Given the description of an element on the screen output the (x, y) to click on. 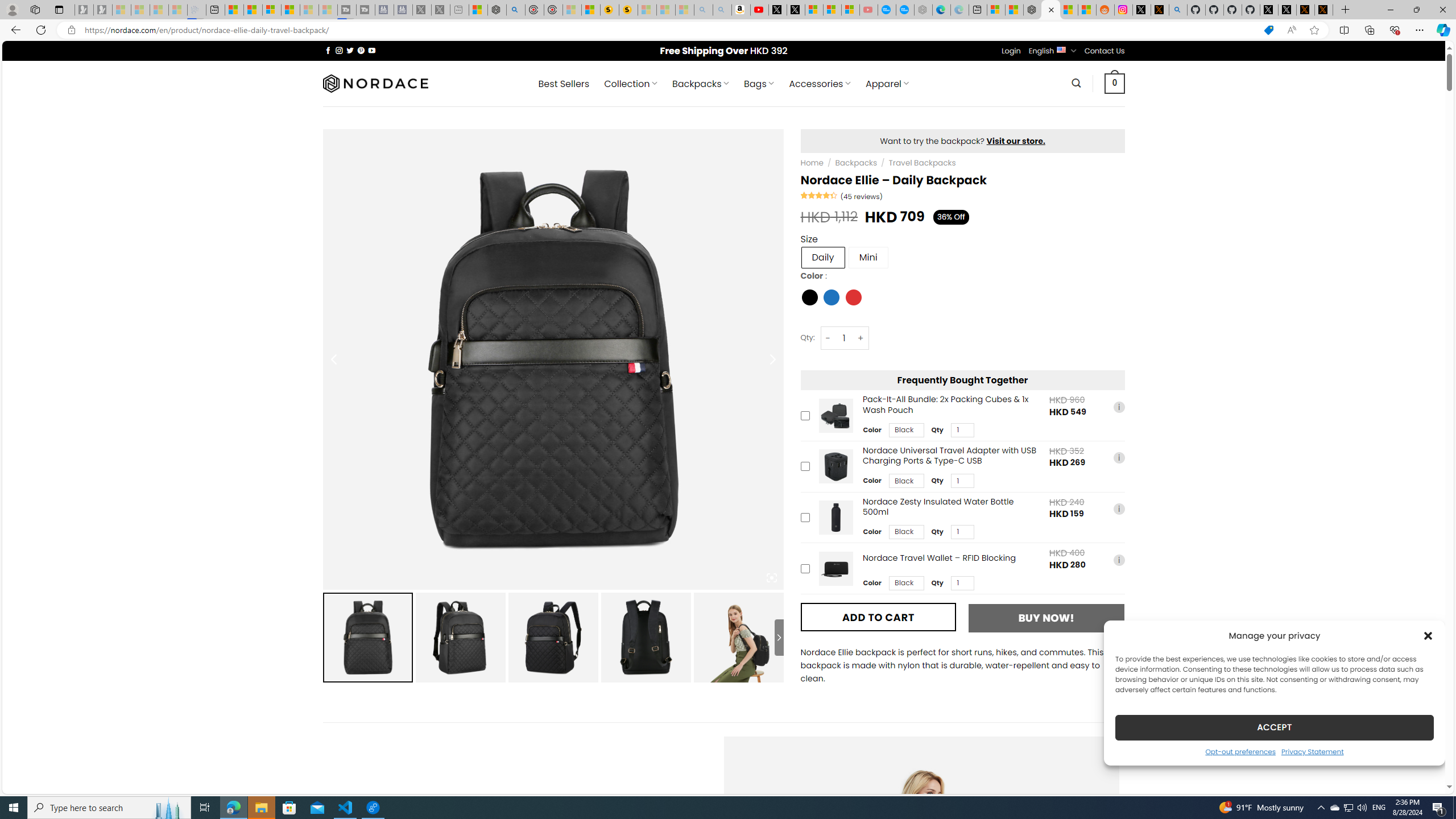
BUY NOW! (1046, 617)
help.x.com | 524: A timeout occurred (1159, 9)
GitHub (@github) / X (1287, 9)
+ (861, 337)
Follow on Instagram (338, 49)
  0   (1115, 83)
